Given the description of an element on the screen output the (x, y) to click on. 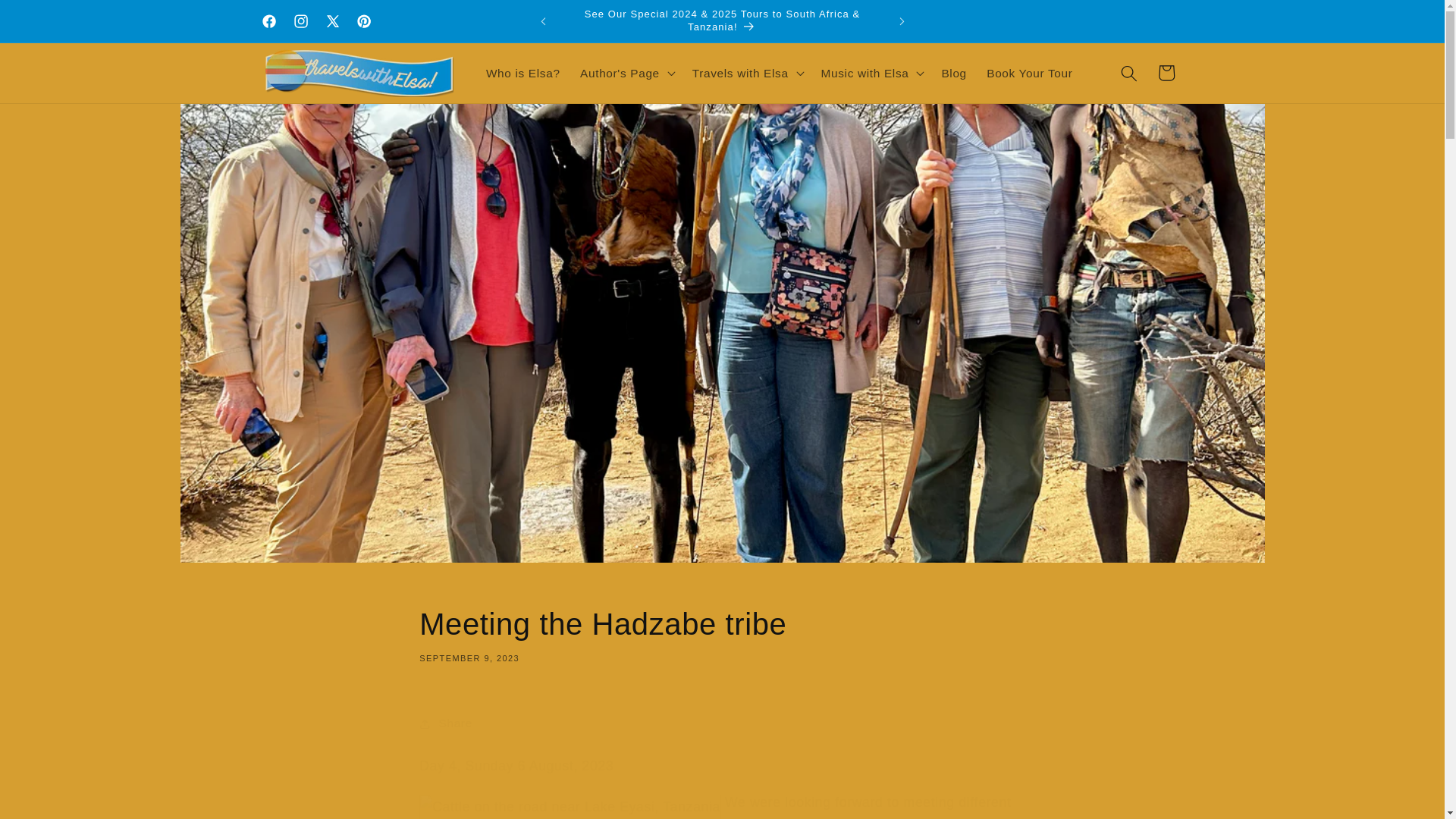
Pinterest (364, 20)
Instagram (301, 20)
Facebook (269, 20)
Accredited Viking Travel Advisor serving you now! (722, 633)
Share (1053, 21)
Skip to content (722, 723)
